Given the description of an element on the screen output the (x, y) to click on. 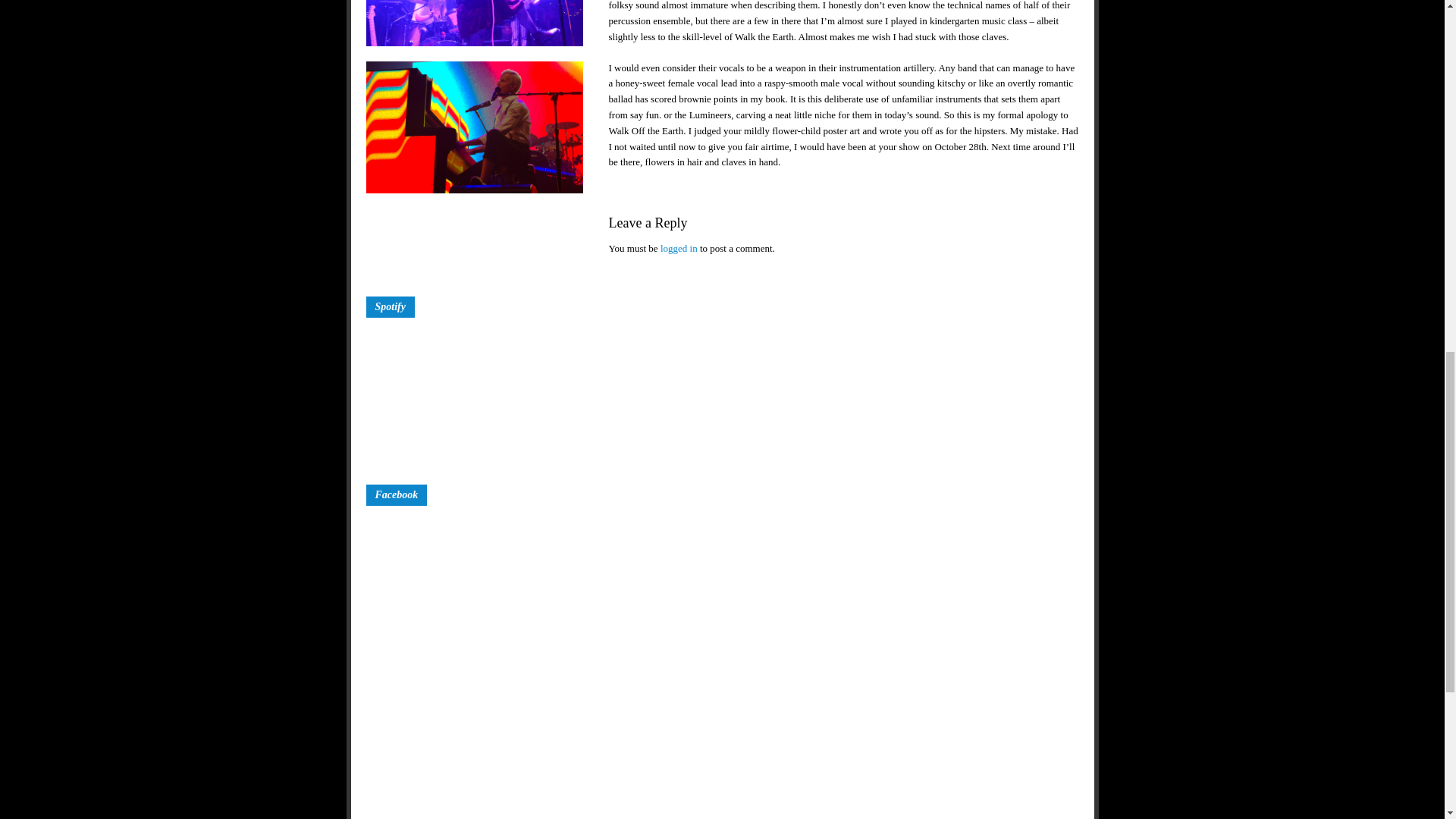
logged in (679, 247)
